Given the description of an element on the screen output the (x, y) to click on. 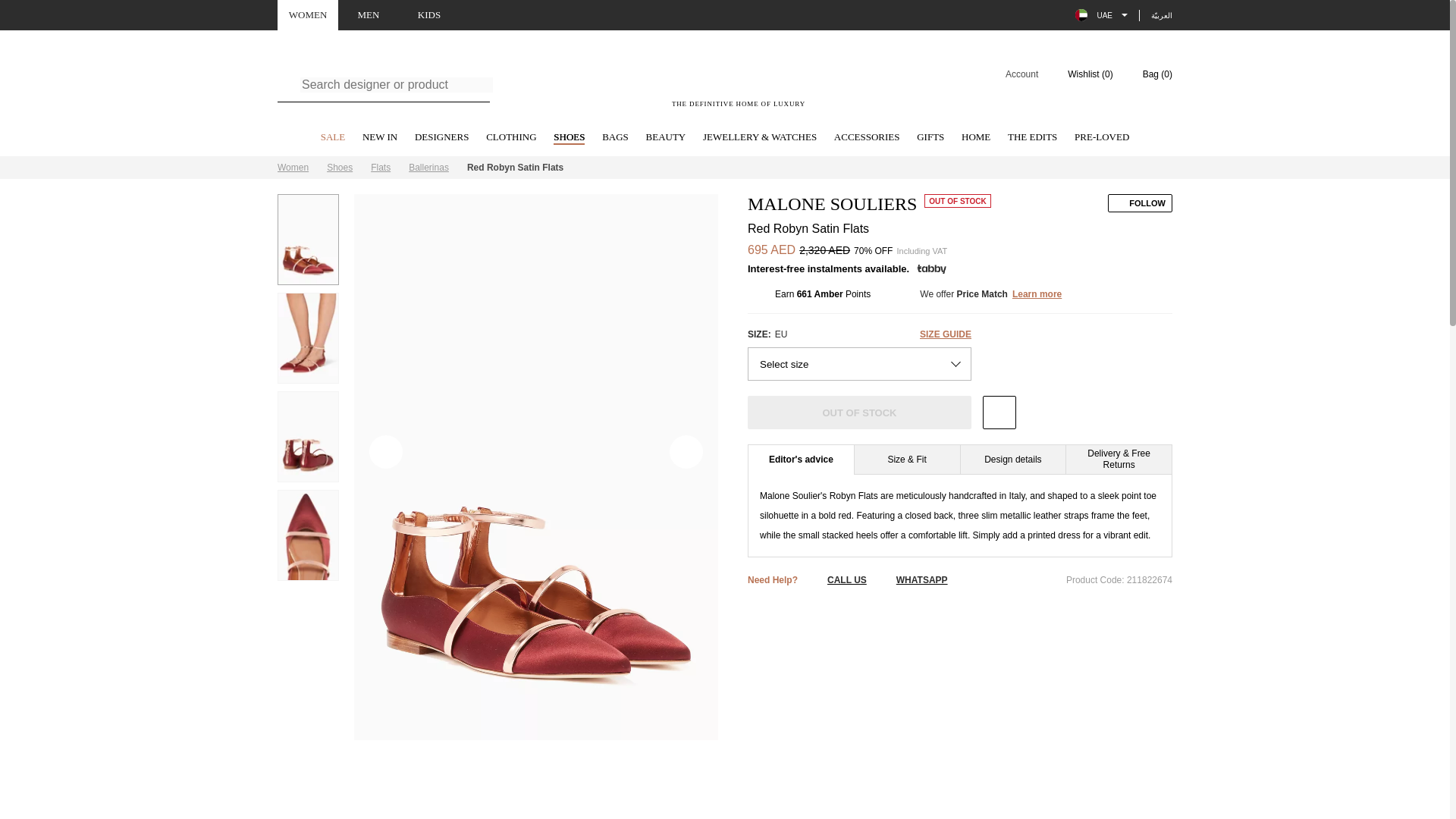
Account (1012, 73)
BEAUTY (665, 137)
HOME (975, 137)
THE EDITS (1032, 137)
BAGS (615, 137)
GIFTS (930, 137)
DESIGNERS (725, 167)
WOMEN (441, 137)
SALE (307, 15)
THE DEFINITIVE HOME OF LUXURY (333, 137)
Women (738, 83)
ACCESSORIES (293, 167)
UAE (866, 137)
PRE-LOVED (1101, 15)
